Given the description of an element on the screen output the (x, y) to click on. 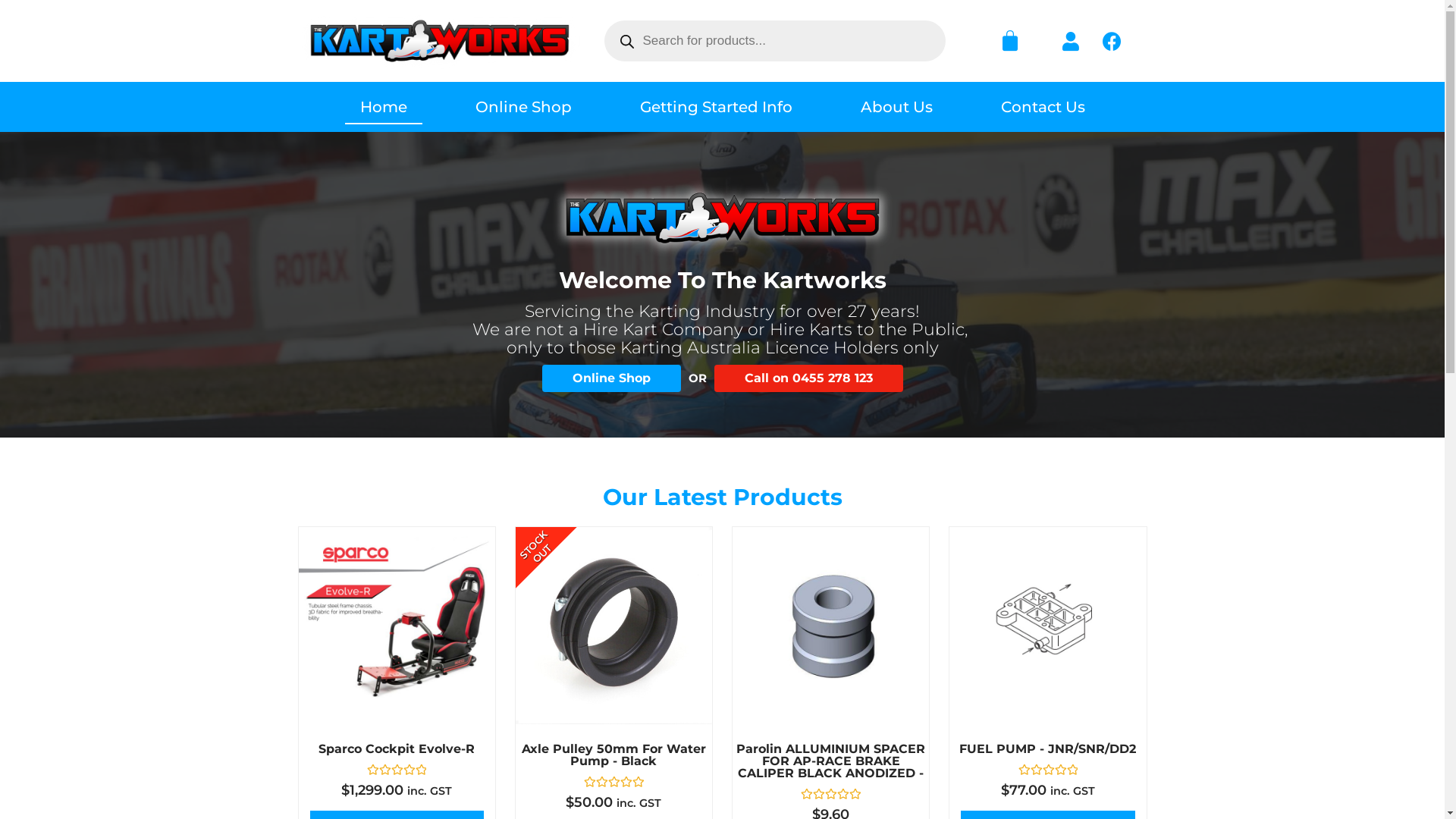
About Us Element type: text (895, 106)
FUEL PUMP - JNR/SNR/DD2 Element type: text (1047, 749)
Contact Us Element type: text (1042, 106)
Call on 0455 278 123 Element type: text (808, 378)
Online Shop Element type: text (610, 378)
Axle Pulley 50mm For Water Pump - Black Element type: text (613, 755)
Getting Started Info Element type: text (715, 106)
Home Element type: text (382, 106)
Online Shop Element type: text (522, 106)
Sparco Cockpit Evolve-R Element type: text (396, 749)
